Given the description of an element on the screen output the (x, y) to click on. 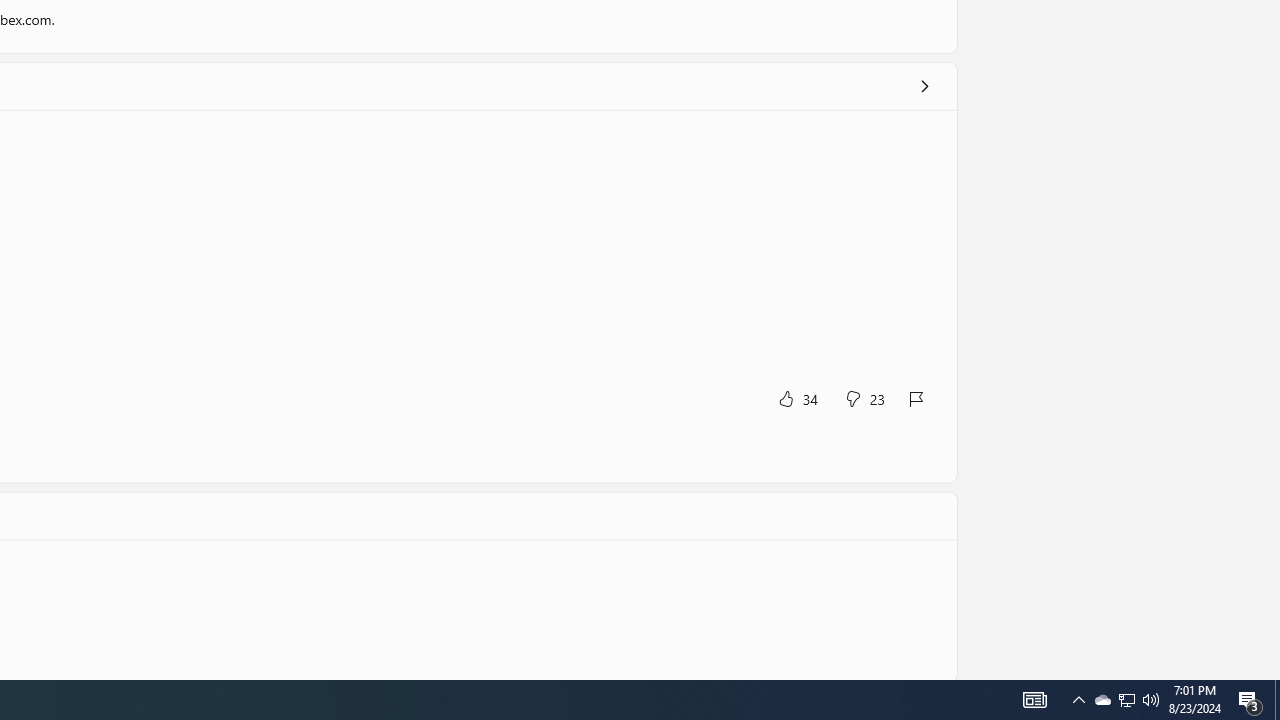
No, this was not helpful. 23 votes. (864, 398)
Report review (917, 398)
Yes, this was helpful. 34 votes. (797, 398)
Show all ratings and reviews (924, 85)
